Given the description of an element on the screen output the (x, y) to click on. 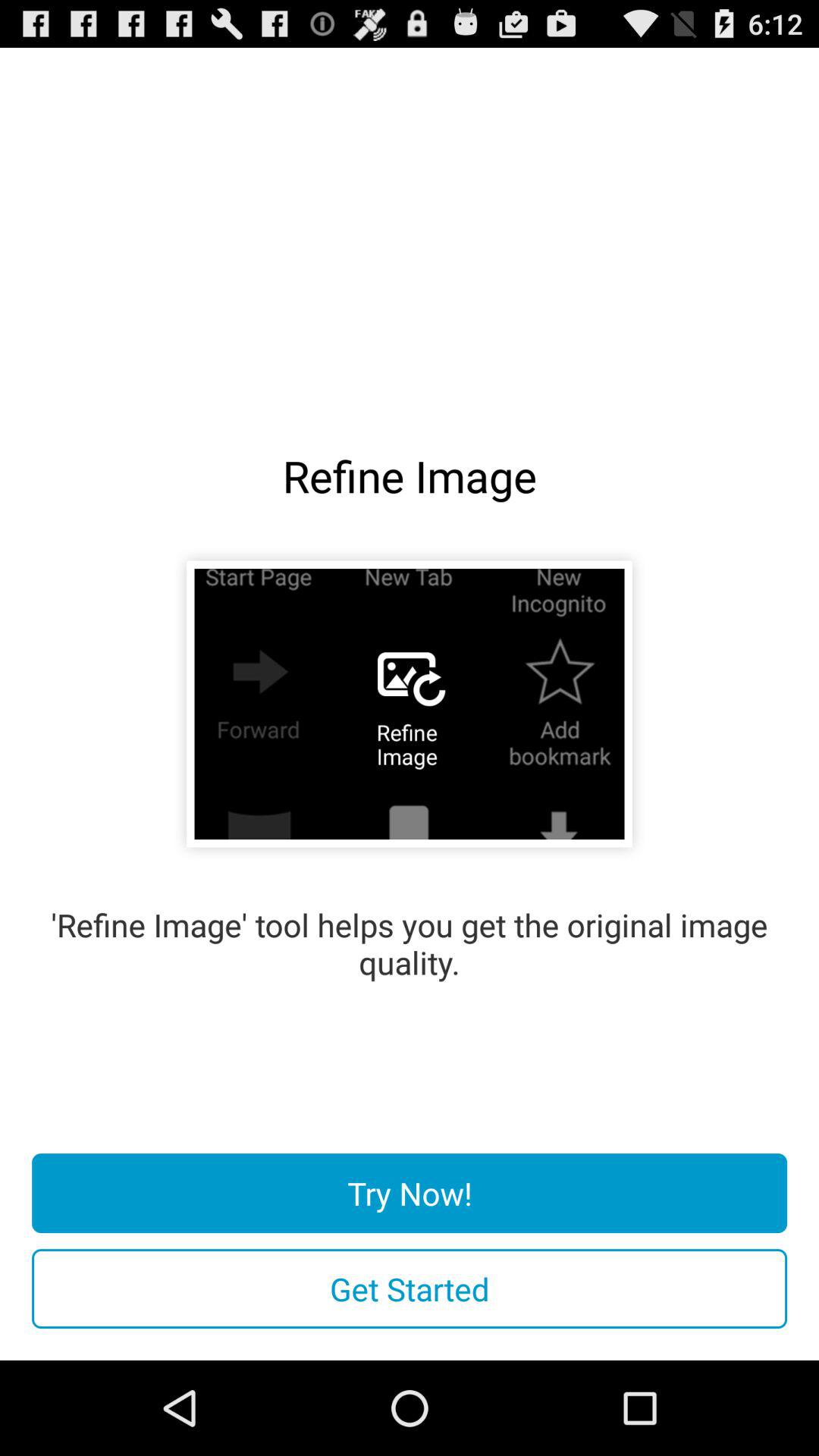
flip until the try now! (409, 1193)
